Given the description of an element on the screen output the (x, y) to click on. 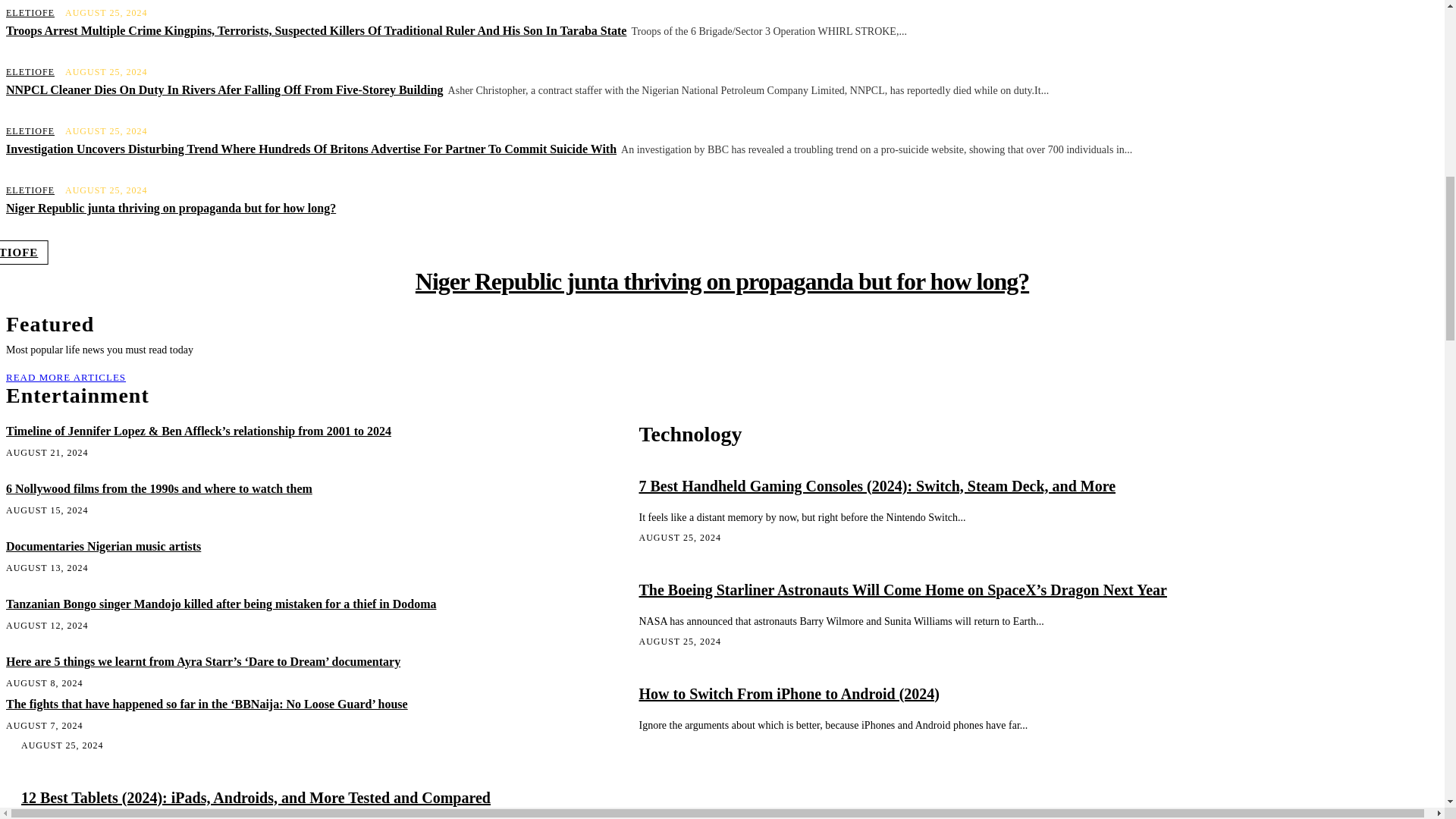
6 Nollywood films from the 1990s and where to watch them (159, 488)
ELETIOFE (30, 131)
READ MORE ARTICLES (68, 377)
ELETIOFE (30, 12)
Documentaries Nigerian music artists (102, 545)
